Given the description of an element on the screen output the (x, y) to click on. 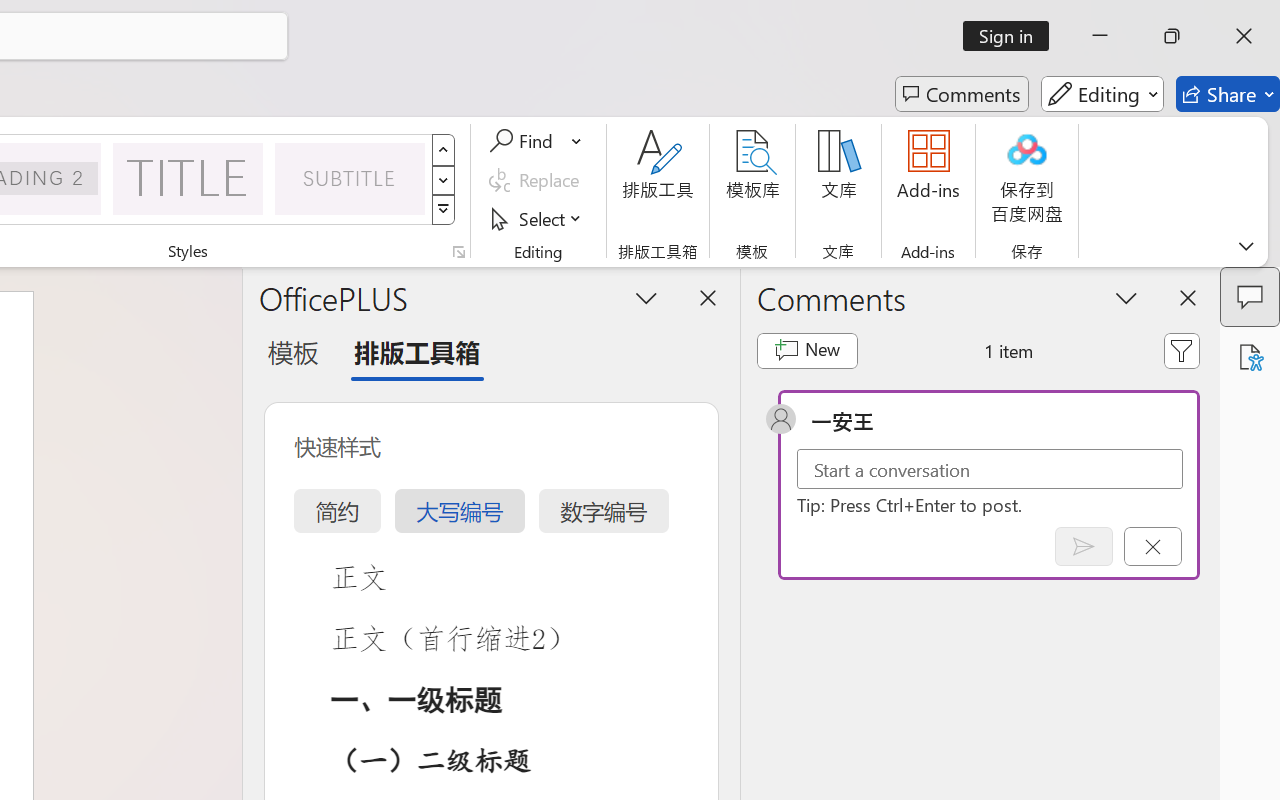
Cancel (1152, 546)
Start a conversation (990, 468)
Filter (1181, 350)
Sign in (1012, 35)
Title (187, 178)
